Given the description of an element on the screen output the (x, y) to click on. 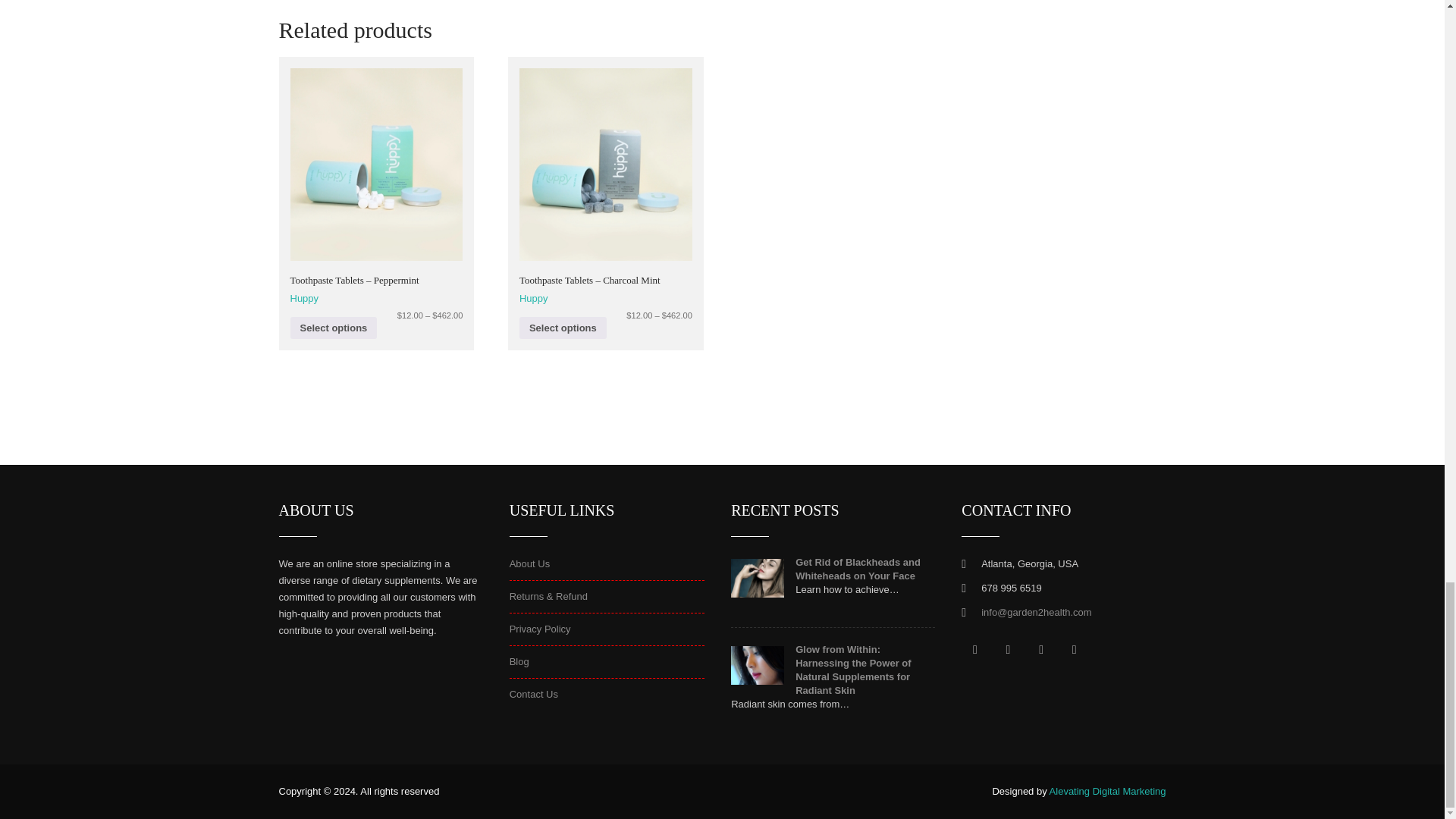
fab fa-twitter (1008, 649)
fab fa-facebook-f (974, 649)
